Given the description of an element on the screen output the (x, y) to click on. 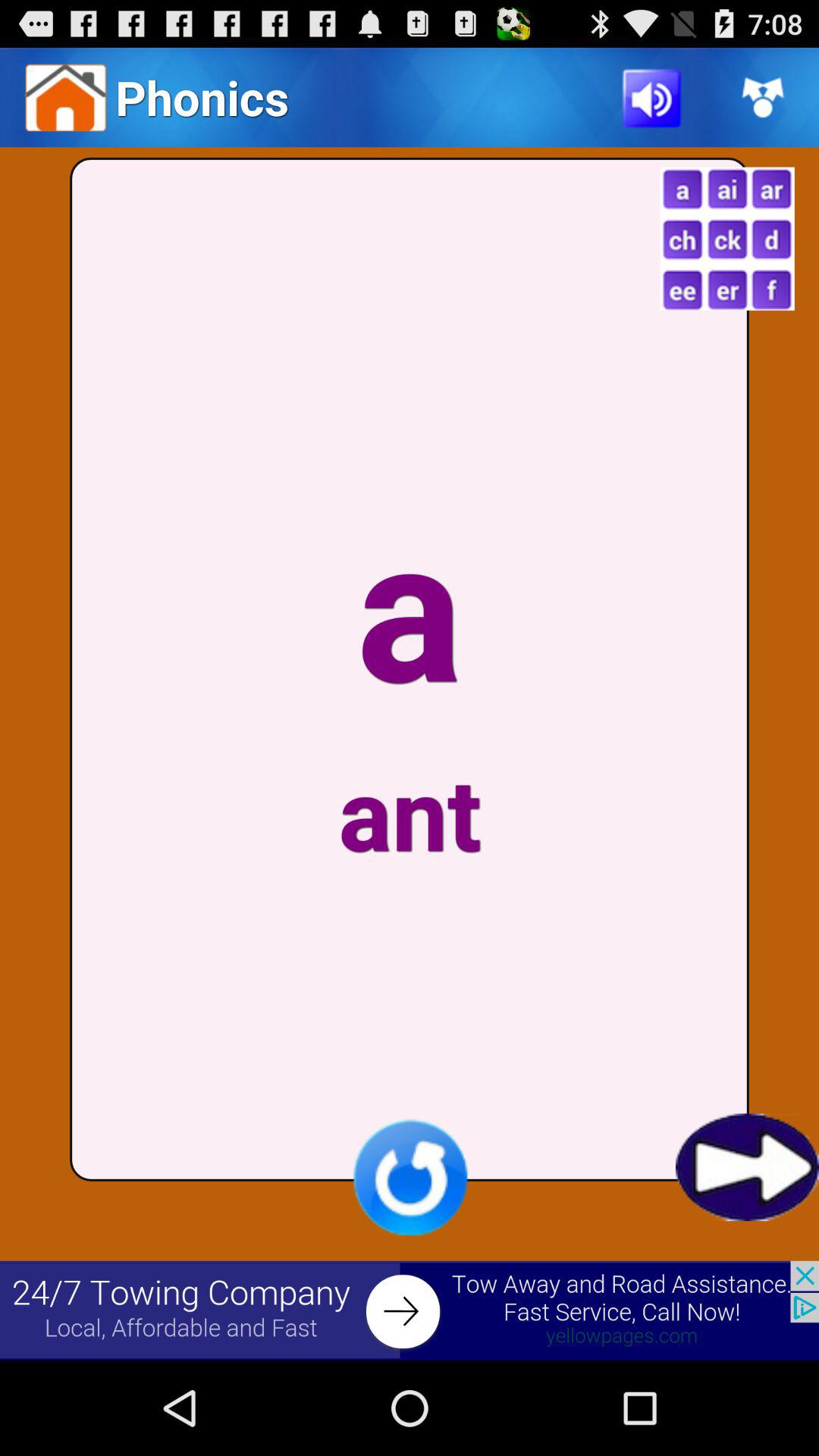
go to next page (747, 1167)
